Given the description of an element on the screen output the (x, y) to click on. 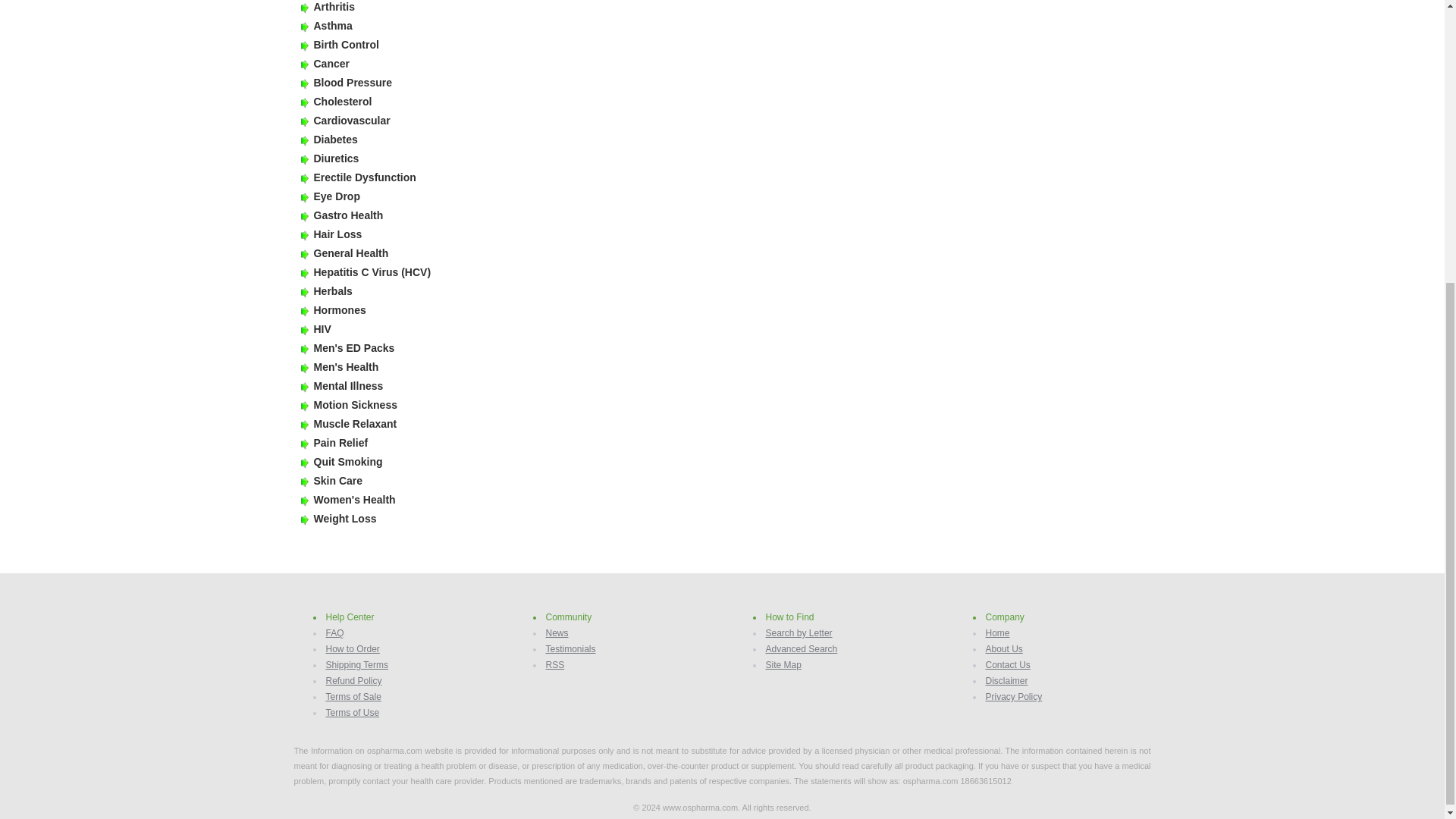
Search by Letter (798, 633)
News (557, 633)
Cancer (331, 63)
Testimonials (570, 648)
Privacy Policy (1013, 696)
Blood Pressure (352, 82)
Advanced Search (801, 648)
Contact Us (1007, 665)
Terms of Use (353, 712)
Terms of Sale (353, 696)
Shipping Terms (357, 665)
Birth Control (346, 44)
Asthma (333, 25)
About Us (1004, 648)
Disclaimer (1006, 680)
